Given the description of an element on the screen output the (x, y) to click on. 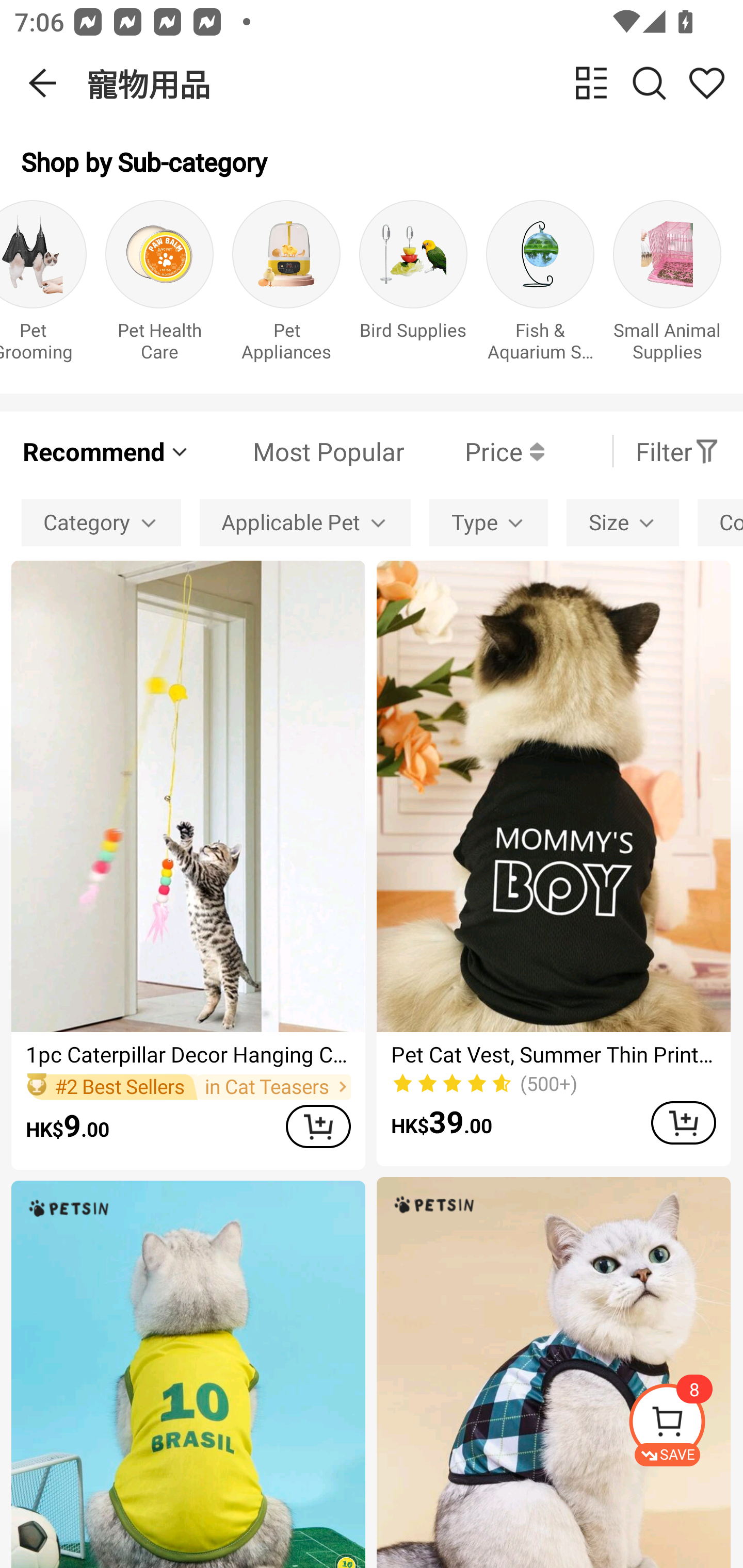
寵物用品 change view Search Share (414, 82)
change view (591, 82)
Search (648, 82)
Share (706, 82)
Pet Grooming (43, 285)
Pet Health Care (159, 285)
Pet Appliances (285, 285)
Bird Supplies (412, 285)
Fish & Aquarium Supplies (539, 285)
Small Animal Supplies (666, 285)
Recommend (106, 450)
Most Popular (297, 450)
Price (474, 450)
Filter (677, 450)
Category (101, 521)
Applicable Pet (304, 521)
Type (488, 521)
Size (622, 521)
#2 Best Sellers in Cat Teasers (188, 1086)
ADD TO CART (683, 1122)
ADD TO CART (318, 1126)
PETSIN 1pc Plaid Pattern Pet Tank (553, 1372)
PETSIN Letter Graphic Pet Tank (188, 1374)
SAVE (685, 1424)
